Given the description of an element on the screen output the (x, y) to click on. 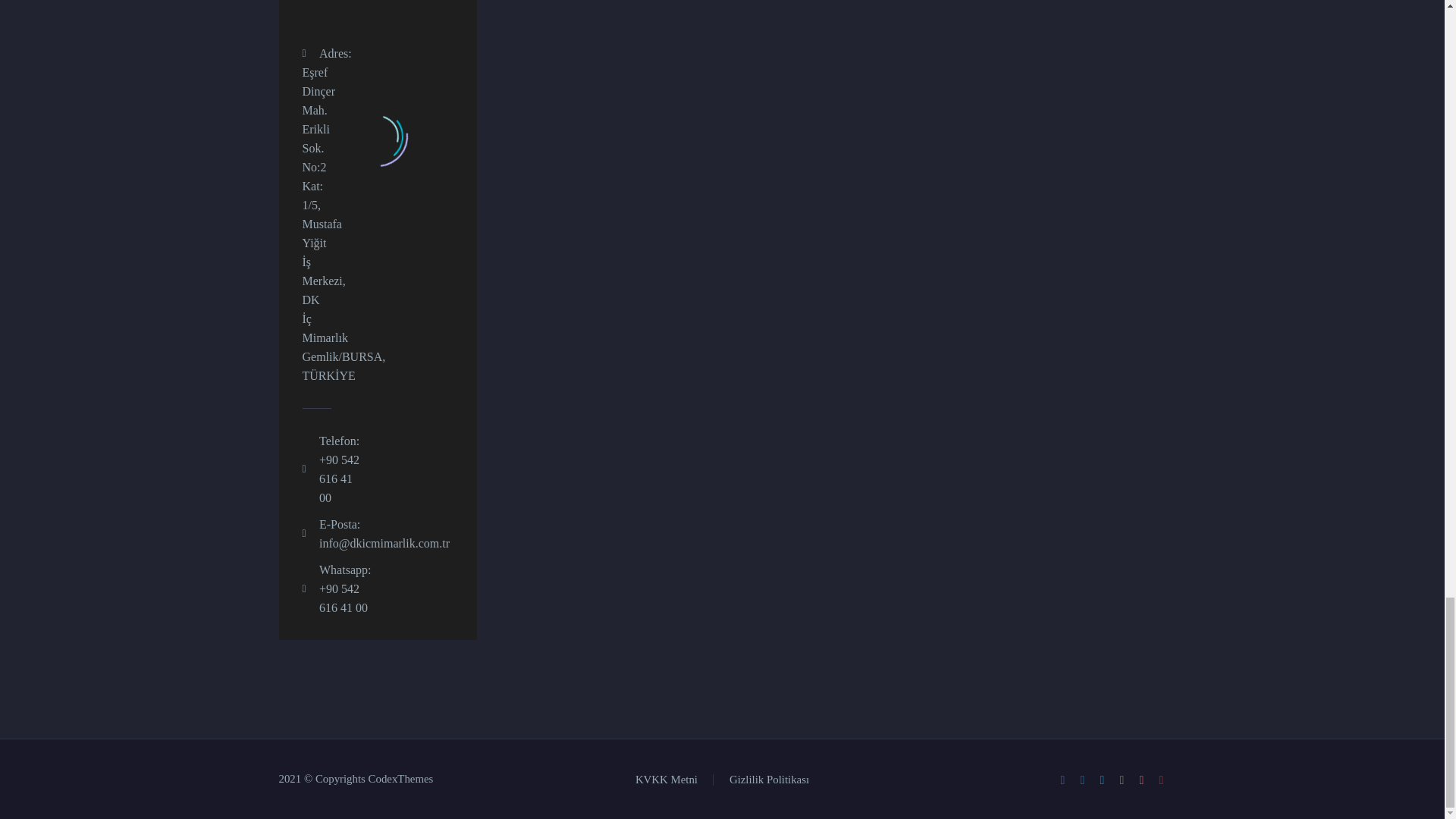
LinkedIn (1083, 779)
Instagram (1122, 779)
Facebook (1062, 779)
Twitter (1102, 779)
YouTube (1161, 779)
Pinterest (1141, 779)
